Given the description of an element on the screen output the (x, y) to click on. 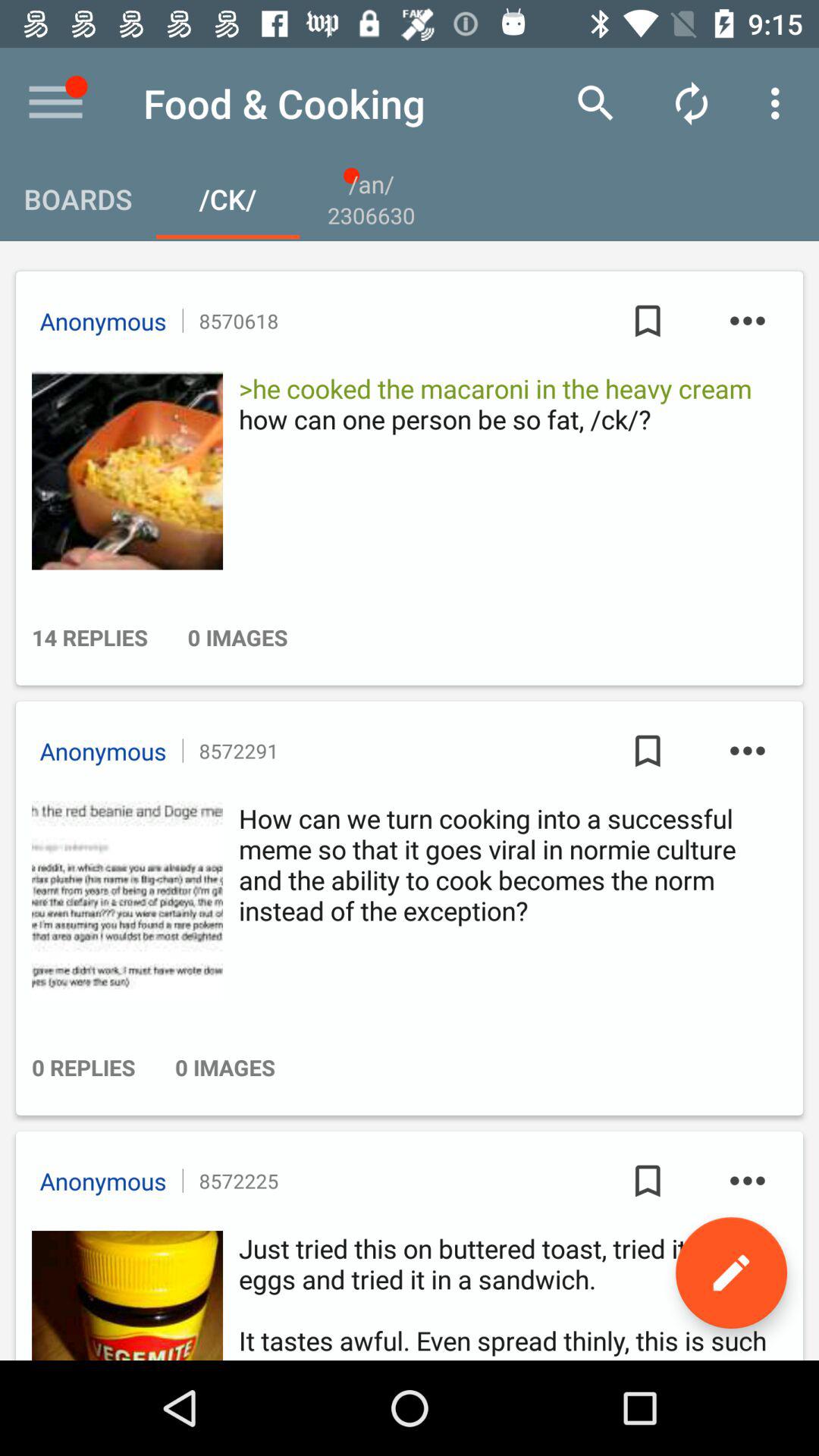
go to home (55, 103)
